Given the description of an element on the screen output the (x, y) to click on. 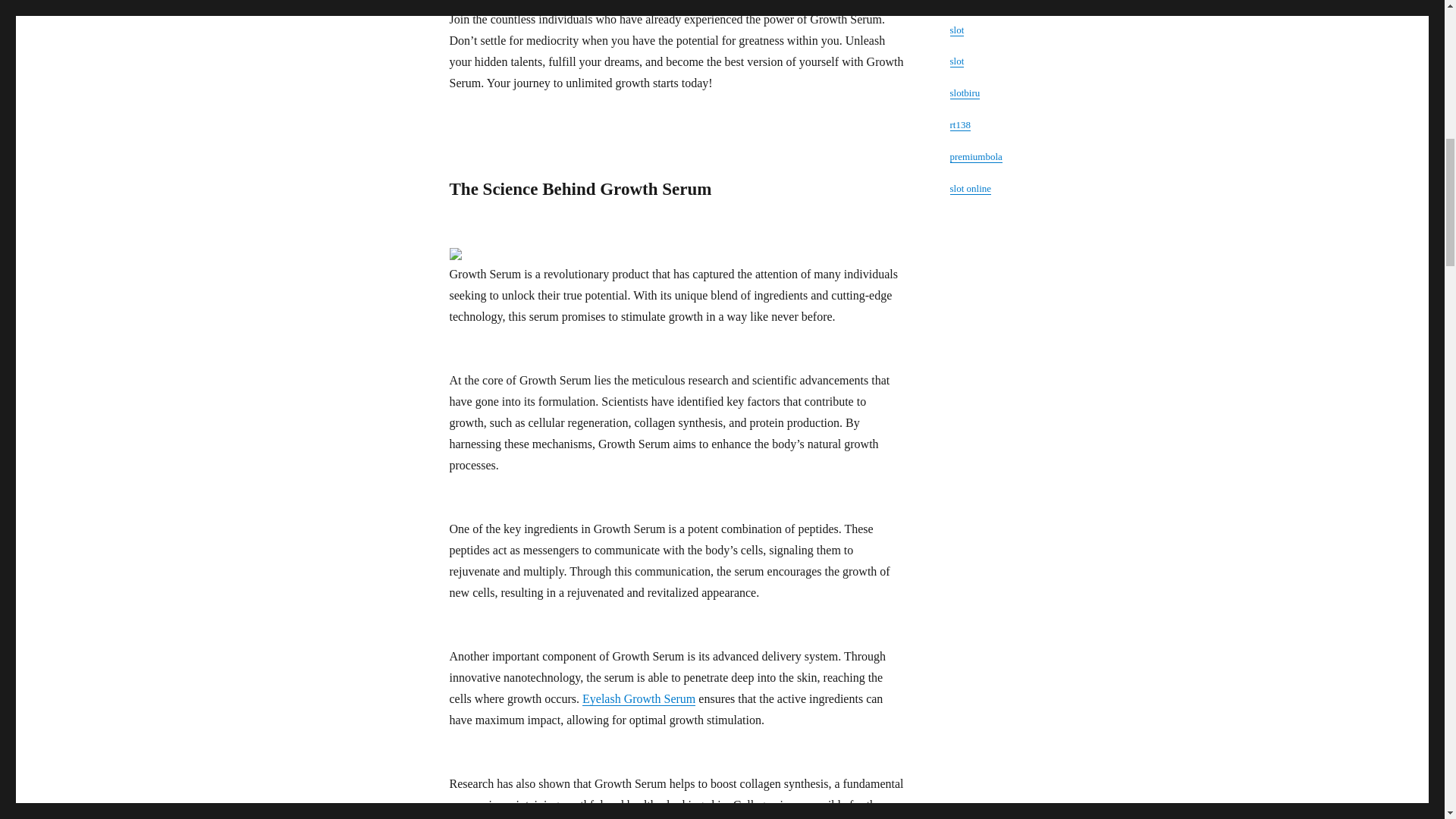
slot (956, 60)
premiumbola (975, 156)
slot (956, 30)
Eyelash Growth Serum (638, 698)
slotbiru (964, 92)
Raden4d (966, 2)
rt138 (959, 124)
slot online (970, 188)
